Given the description of an element on the screen output the (x, y) to click on. 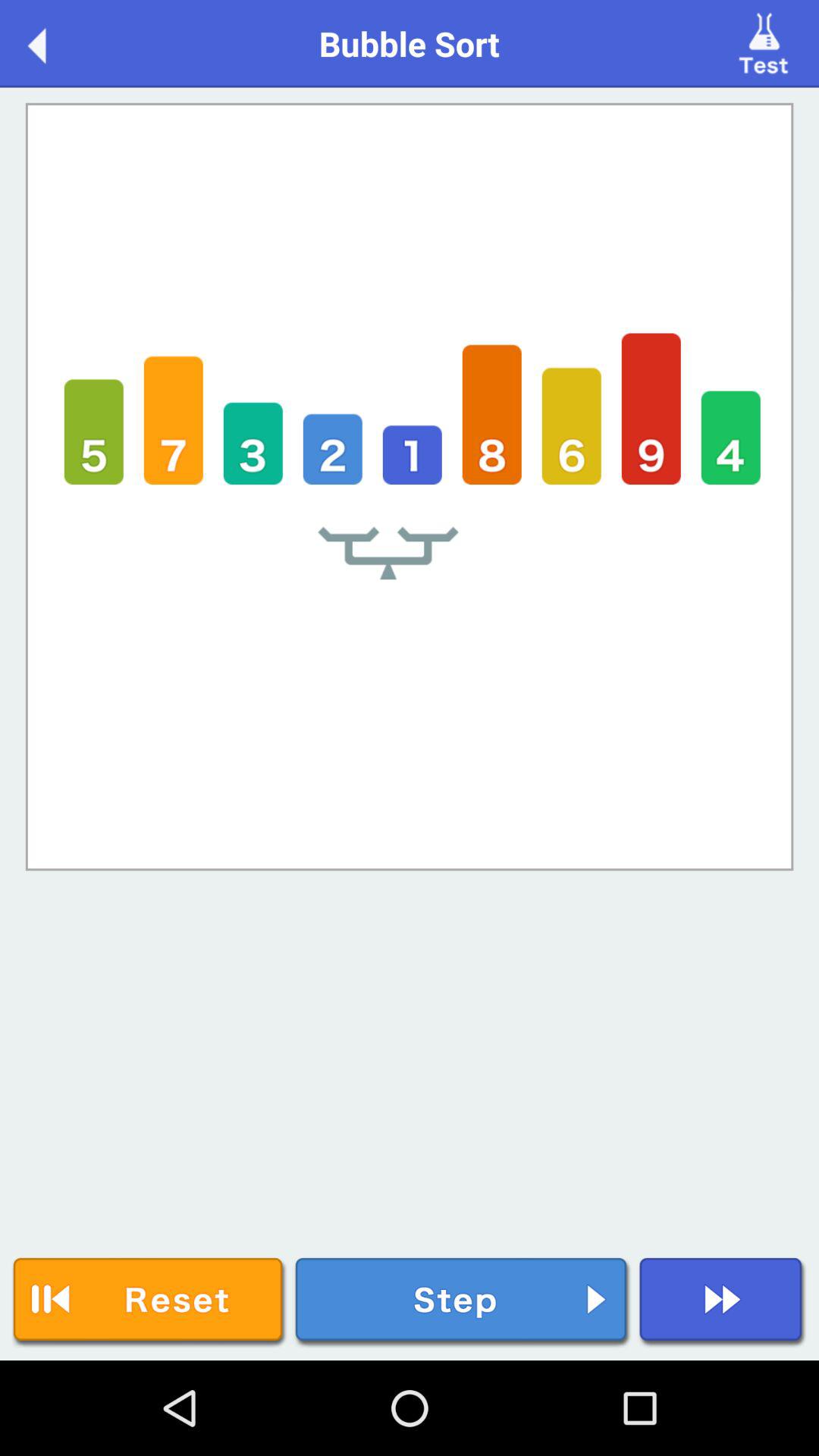
reset icon (149, 1302)
